Given the description of an element on the screen output the (x, y) to click on. 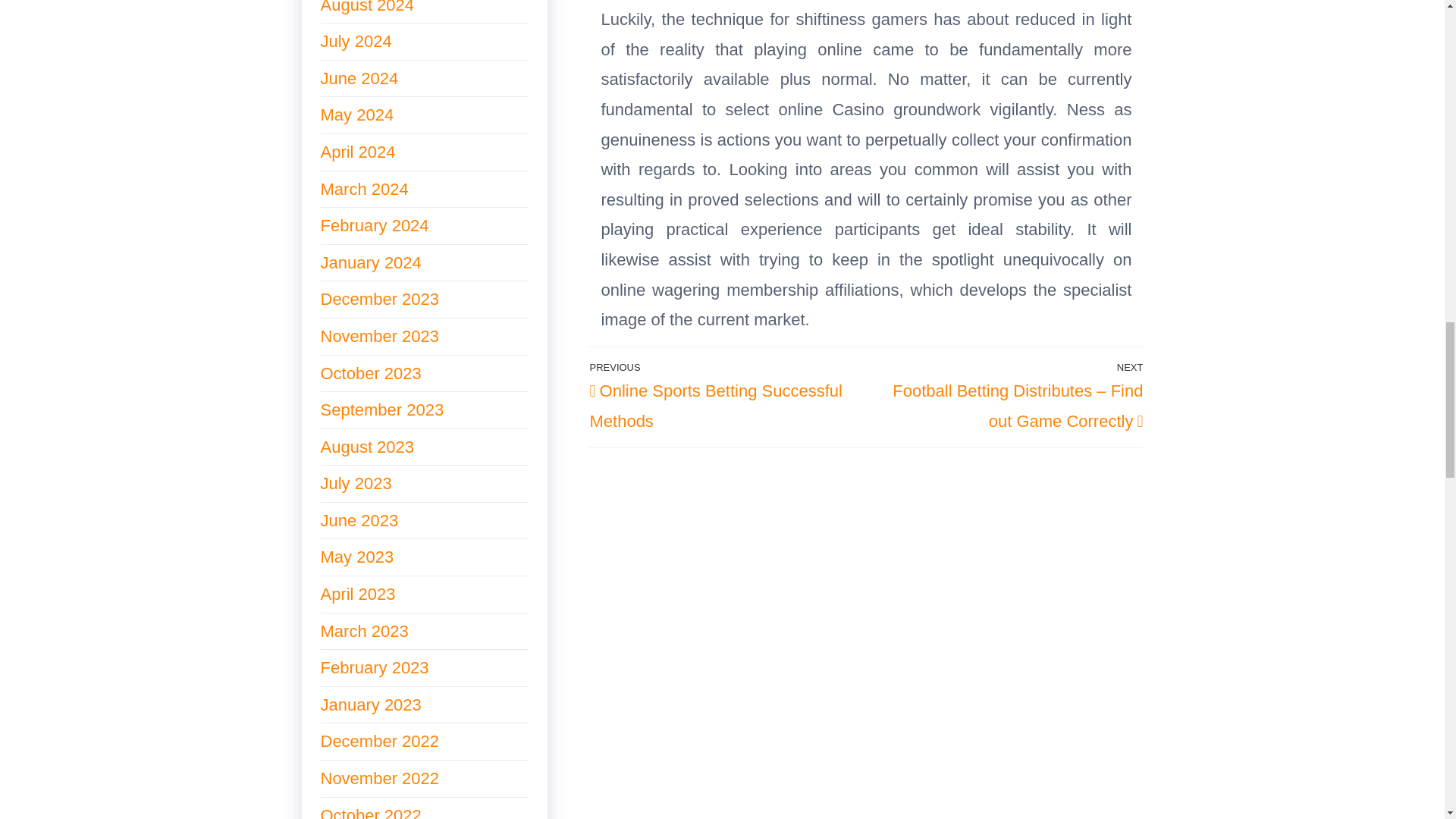
January 2023 (370, 704)
July 2023 (355, 483)
February 2023 (374, 667)
September 2023 (382, 409)
April 2023 (357, 593)
March 2023 (363, 630)
August 2024 (366, 7)
February 2024 (374, 225)
May 2024 (356, 114)
